Given the description of an element on the screen output the (x, y) to click on. 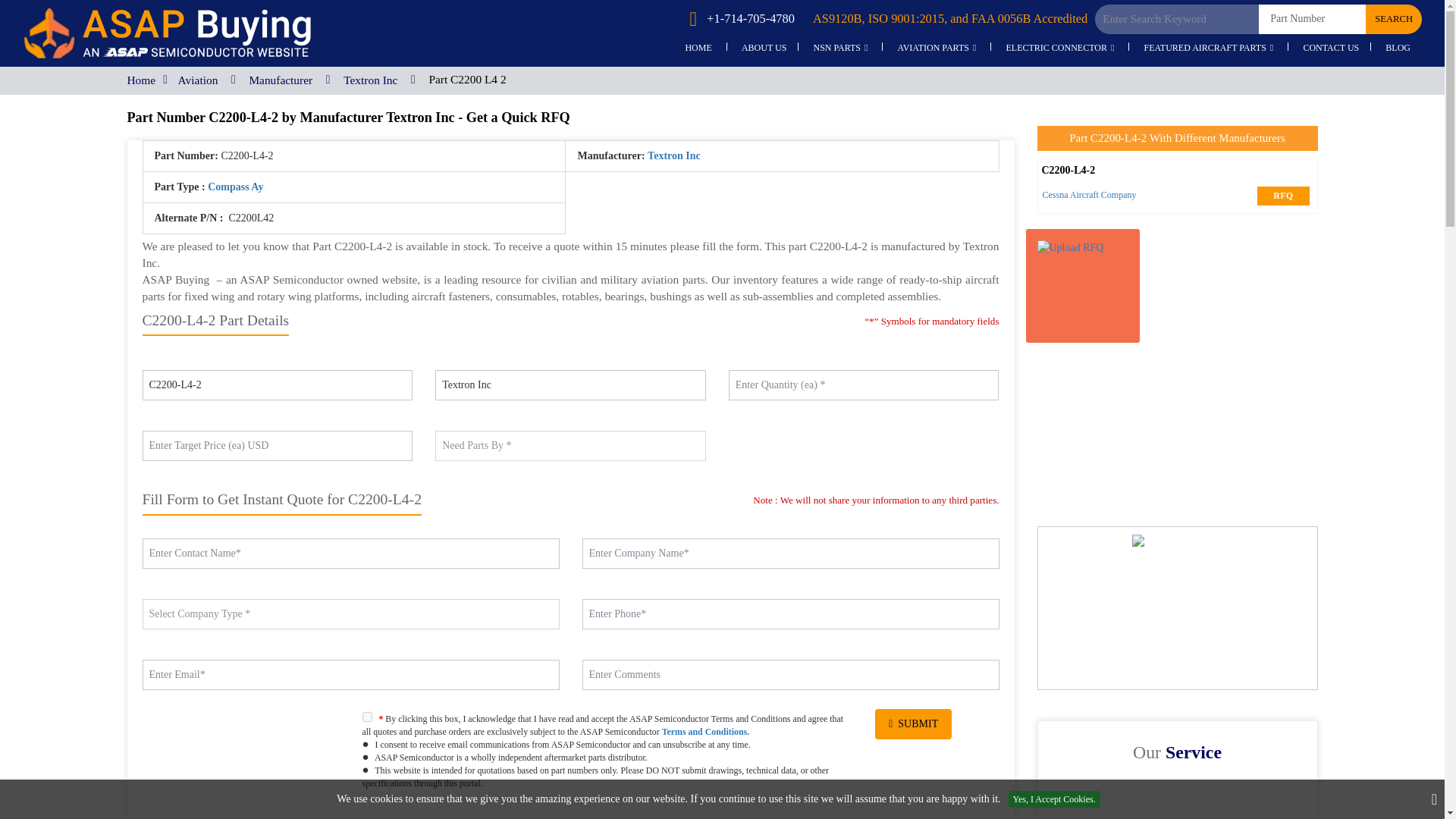
AVIATION PARTS (937, 48)
CONTACT US (1330, 48)
NSN PARTS (840, 48)
Manufacturer (280, 80)
Aviation (197, 80)
Textron Inc (370, 80)
ABOUT US (763, 48)
ELECTRIC CONNECTOR (1059, 48)
disclaimer (570, 808)
on (367, 716)
